Given the description of an element on the screen output the (x, y) to click on. 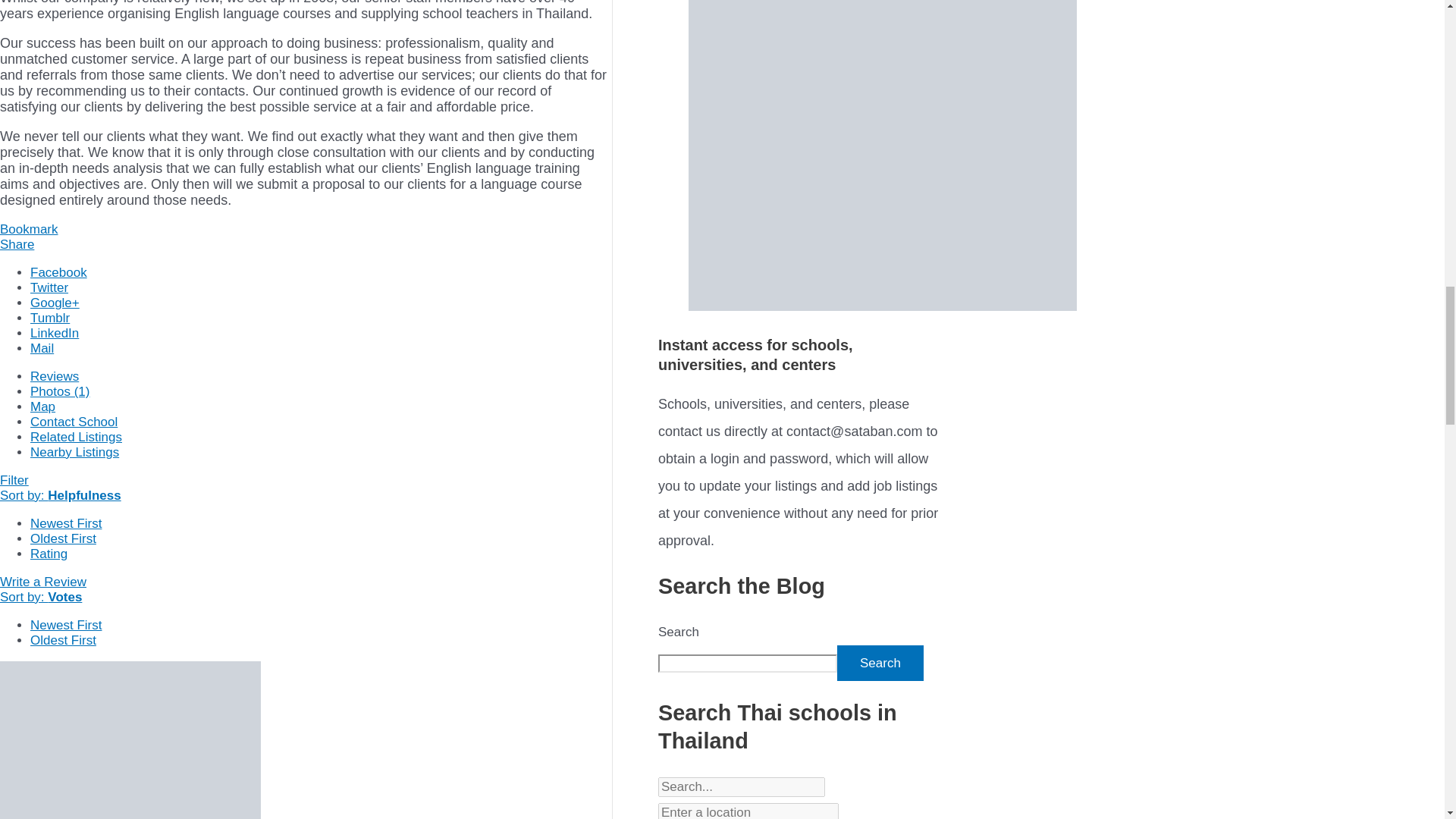
Write a Review (42, 581)
Bookmark this Listing (29, 228)
